Given the description of an element on the screen output the (x, y) to click on. 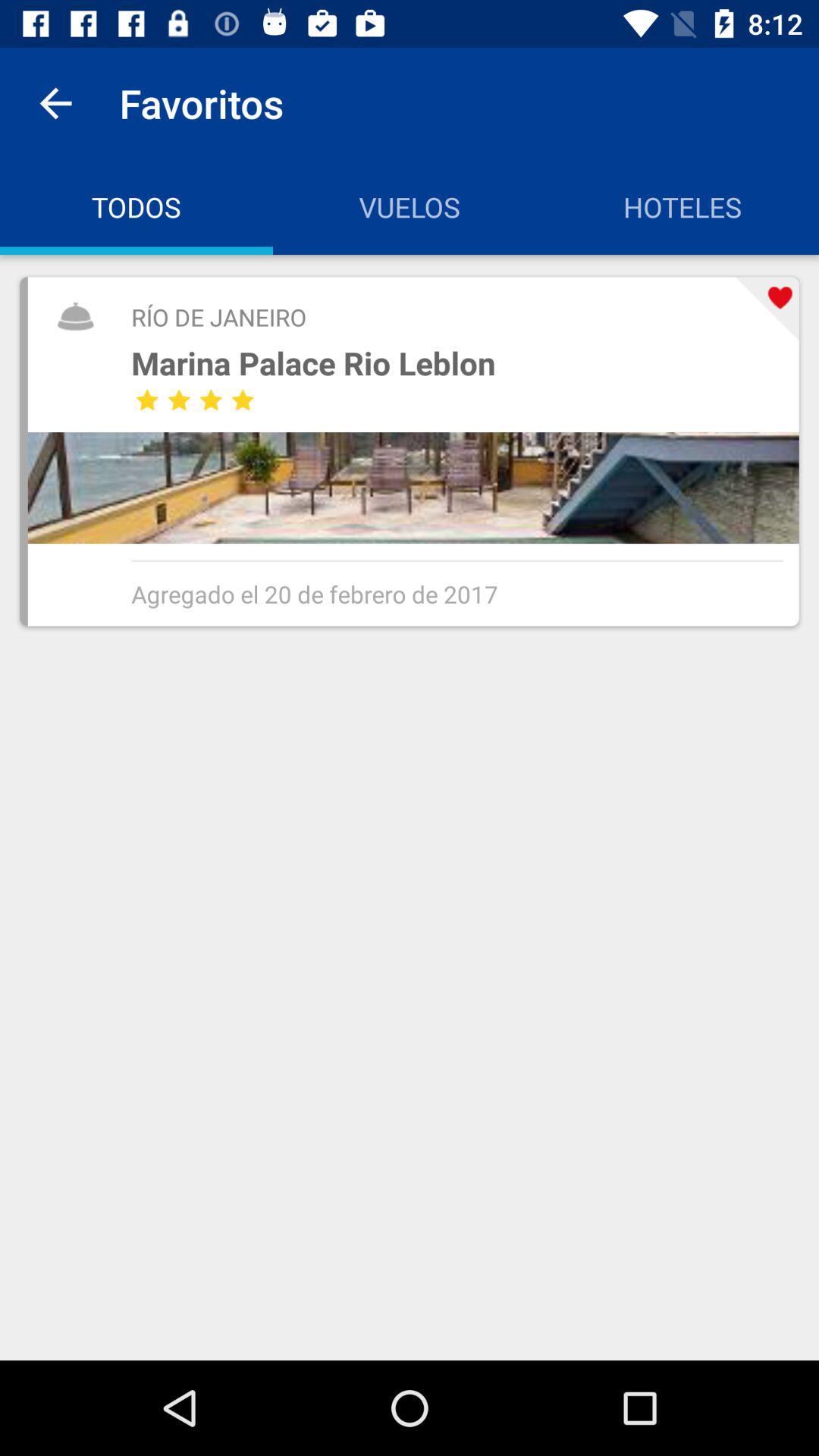
turn on the icon above todos (55, 103)
